Given the description of an element on the screen output the (x, y) to click on. 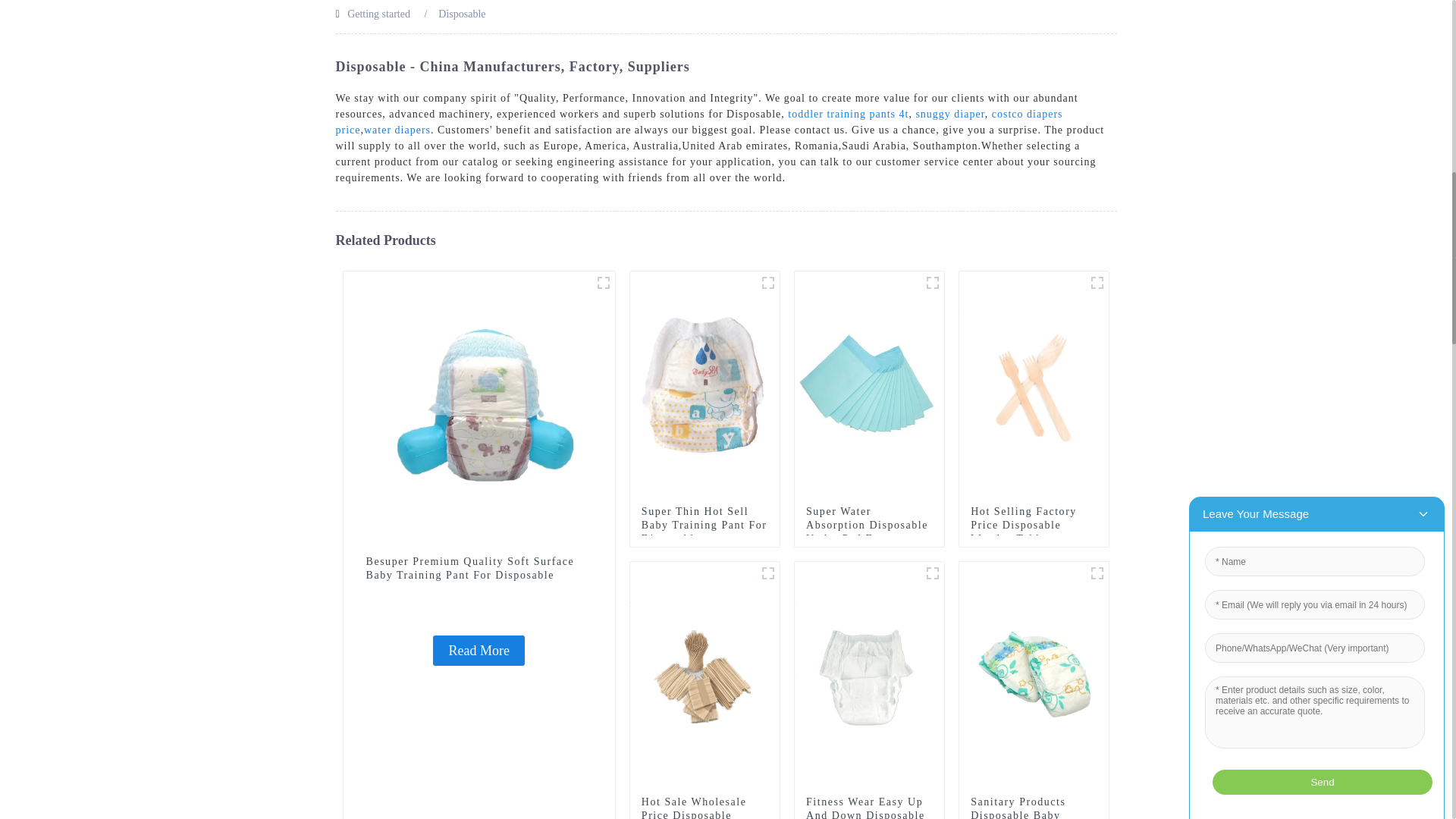
under pad21 (932, 282)
water diapers (397, 129)
Disposable (461, 13)
Hot Sale Wholesale Price Disposable Wooden Tableware  (704, 674)
toddler training pants 4t (847, 113)
Super Thin Hot Sell Baby Training Pant For Disposable (705, 525)
snuggy diaper (949, 113)
snuggy diaper (949, 113)
costco diapers price (698, 121)
toddler training pants 4t (847, 113)
Super Thin Hot Sell Baby Training Pant For Disposable (704, 384)
Hot Selling Factory Price Disposable Wooden Tableware  (1033, 384)
Getting started (378, 13)
